Given the description of an element on the screen output the (x, y) to click on. 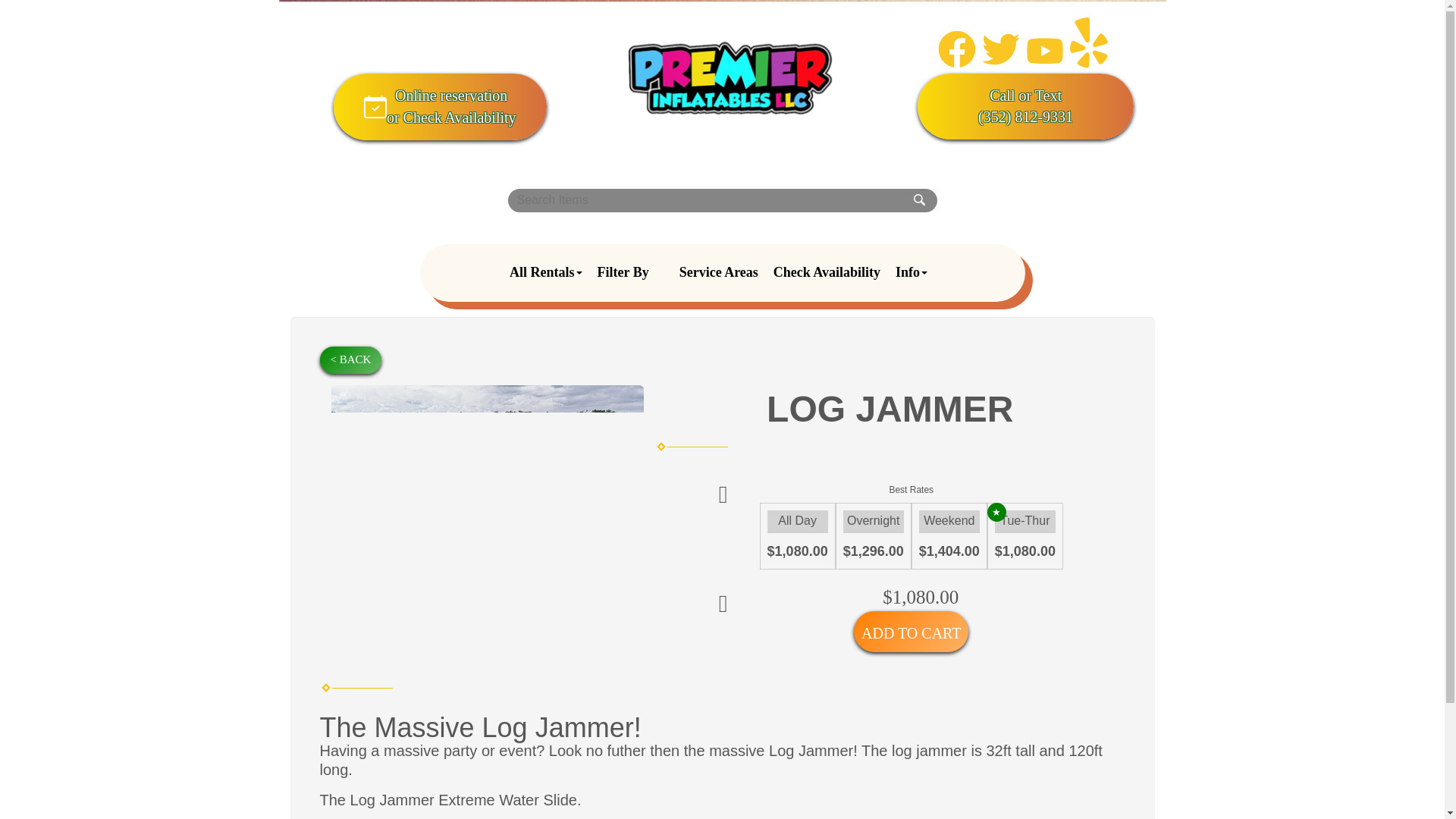
Follow Us on Social Media (722, 273)
Call or Text (1025, 45)
Premier Inflatables LLC Twitter (440, 106)
Premier Inflatables LLC Facebook (1025, 96)
ocala premier Logo (1000, 63)
Premier Inflatables LLC YouTube (956, 63)
All Rentals (731, 78)
